Given the description of an element on the screen output the (x, y) to click on. 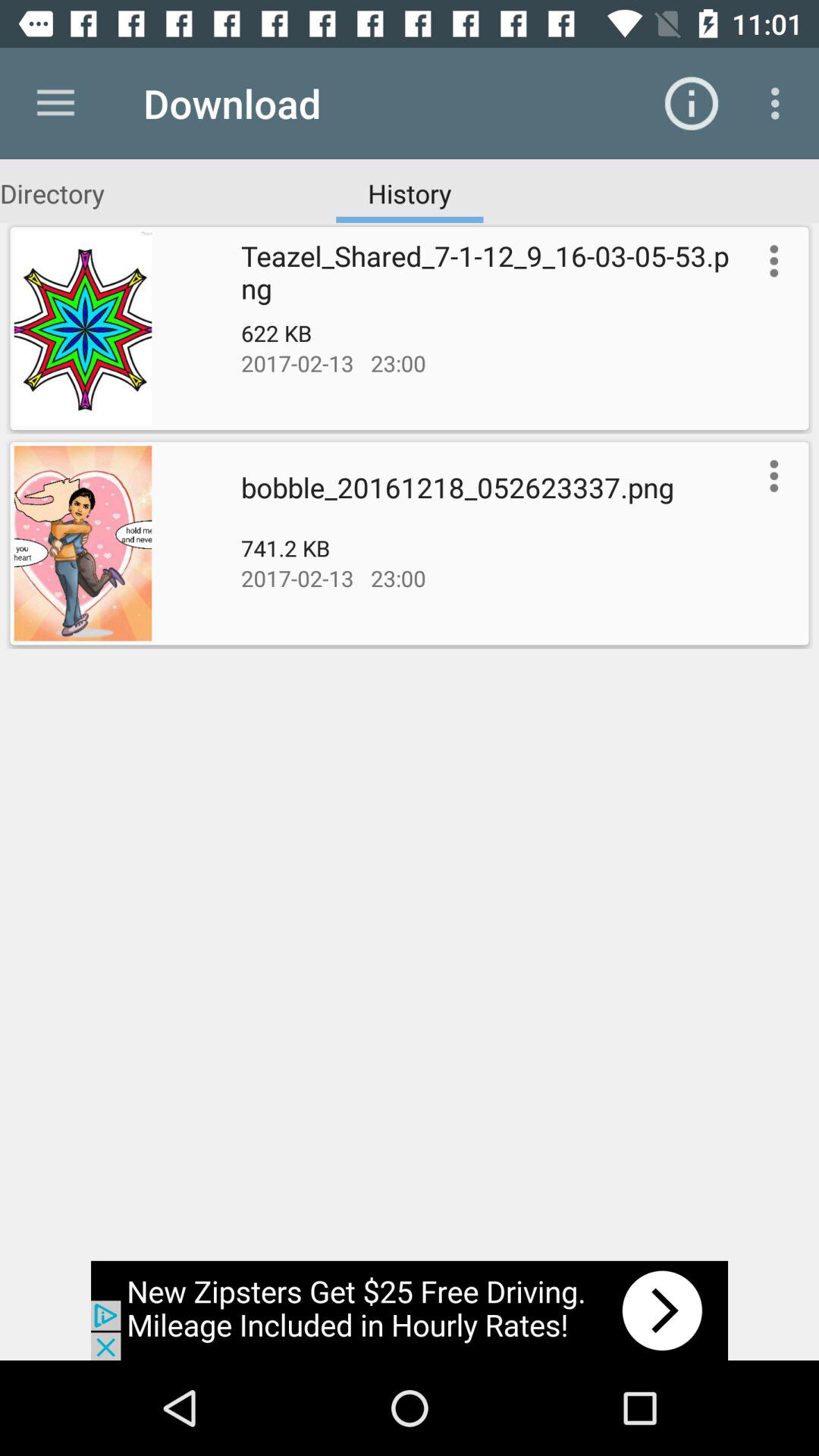
more options (770, 475)
